Given the description of an element on the screen output the (x, y) to click on. 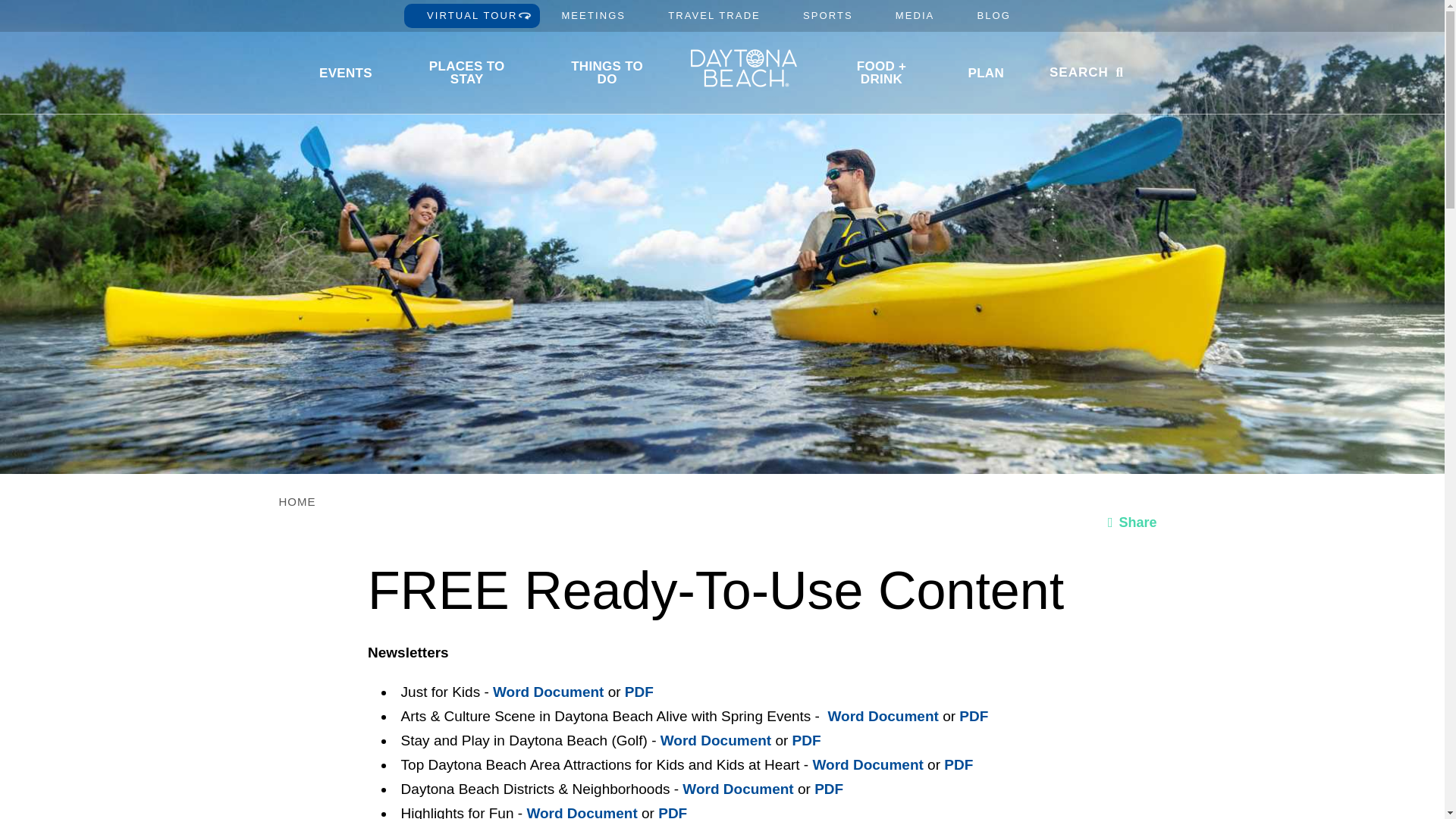
BLOG (993, 15)
TRAVEL TRADE (713, 15)
MEETINGS (593, 15)
SPORTS (828, 15)
MEDIA (915, 15)
VIRTUAL TOUR (472, 15)
